Given the description of an element on the screen output the (x, y) to click on. 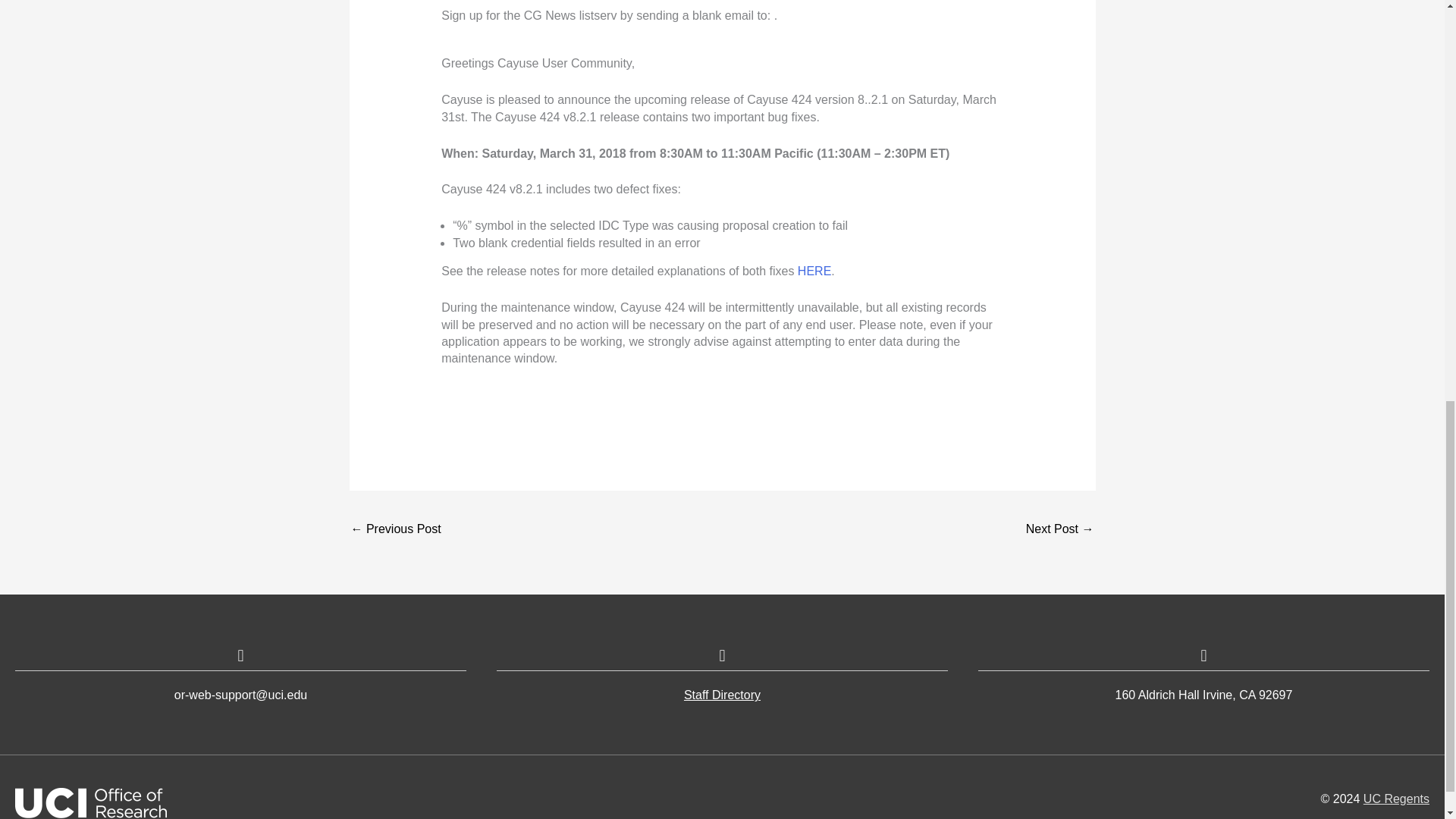
New NSF Account Management System (395, 530)
HERE (814, 270)
Staff Directory (722, 694)
UC Regents (1395, 798)
